Given the description of an element on the screen output the (x, y) to click on. 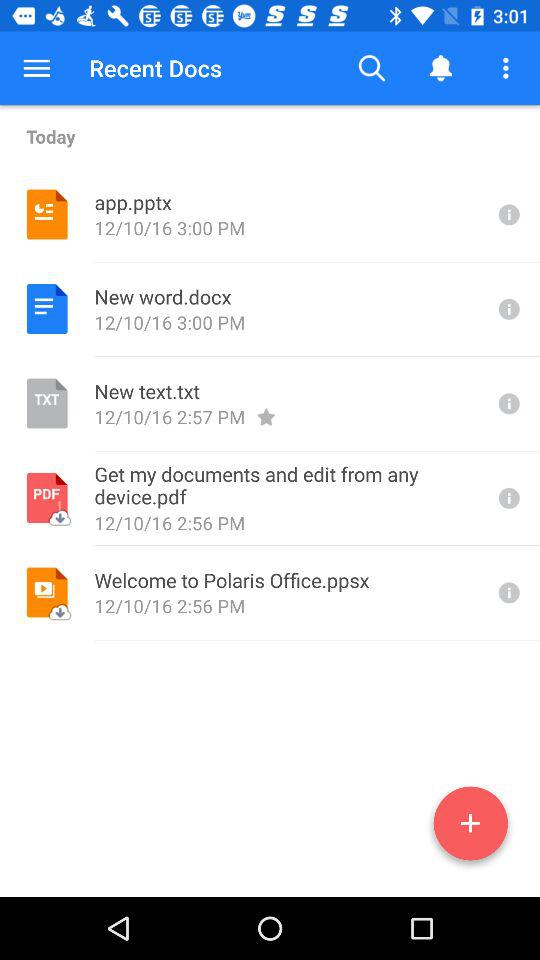
important option (507, 497)
